Given the description of an element on the screen output the (x, y) to click on. 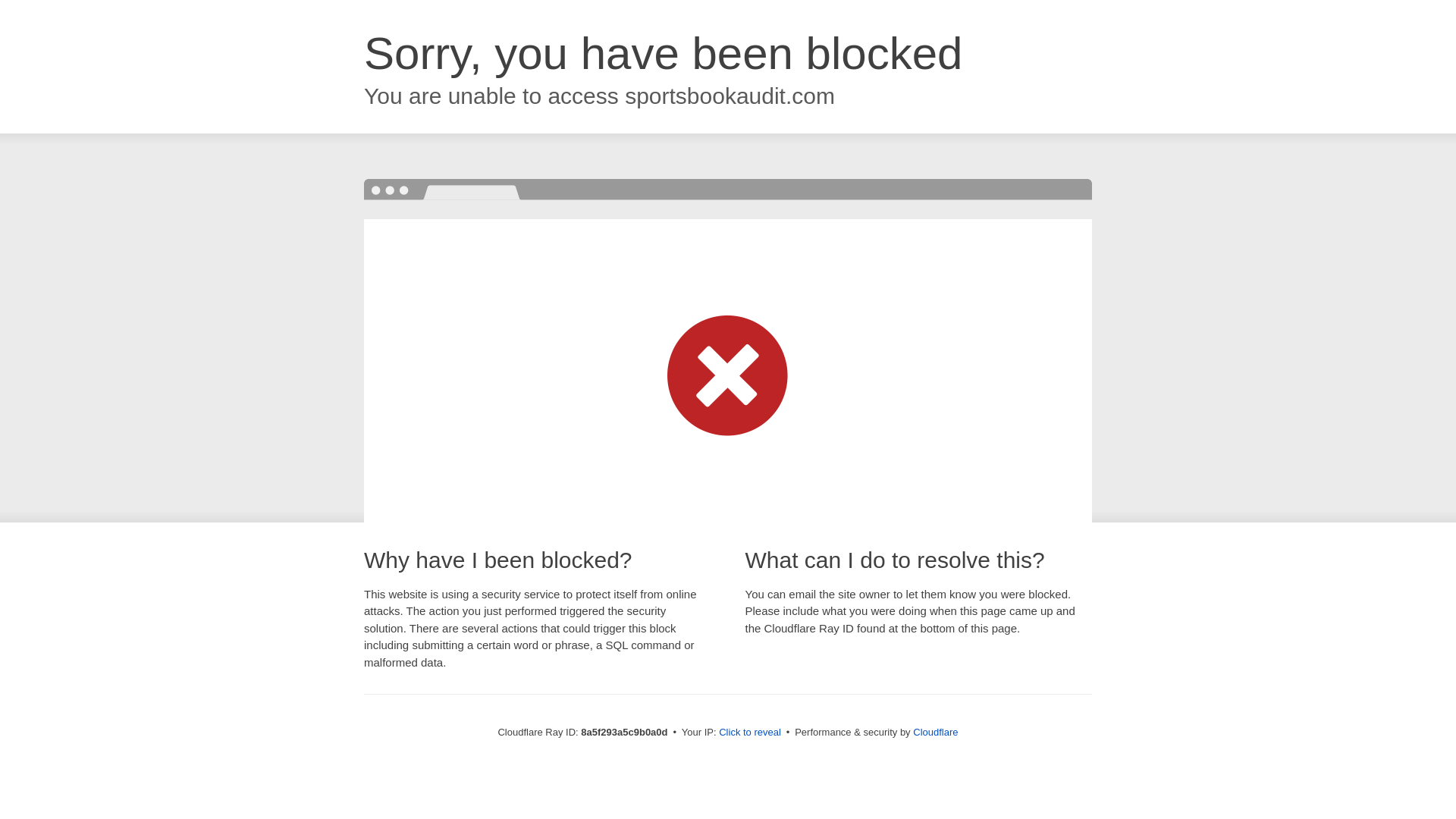
Click to reveal (749, 732)
Cloudflare (935, 731)
